Given the description of an element on the screen output the (x, y) to click on. 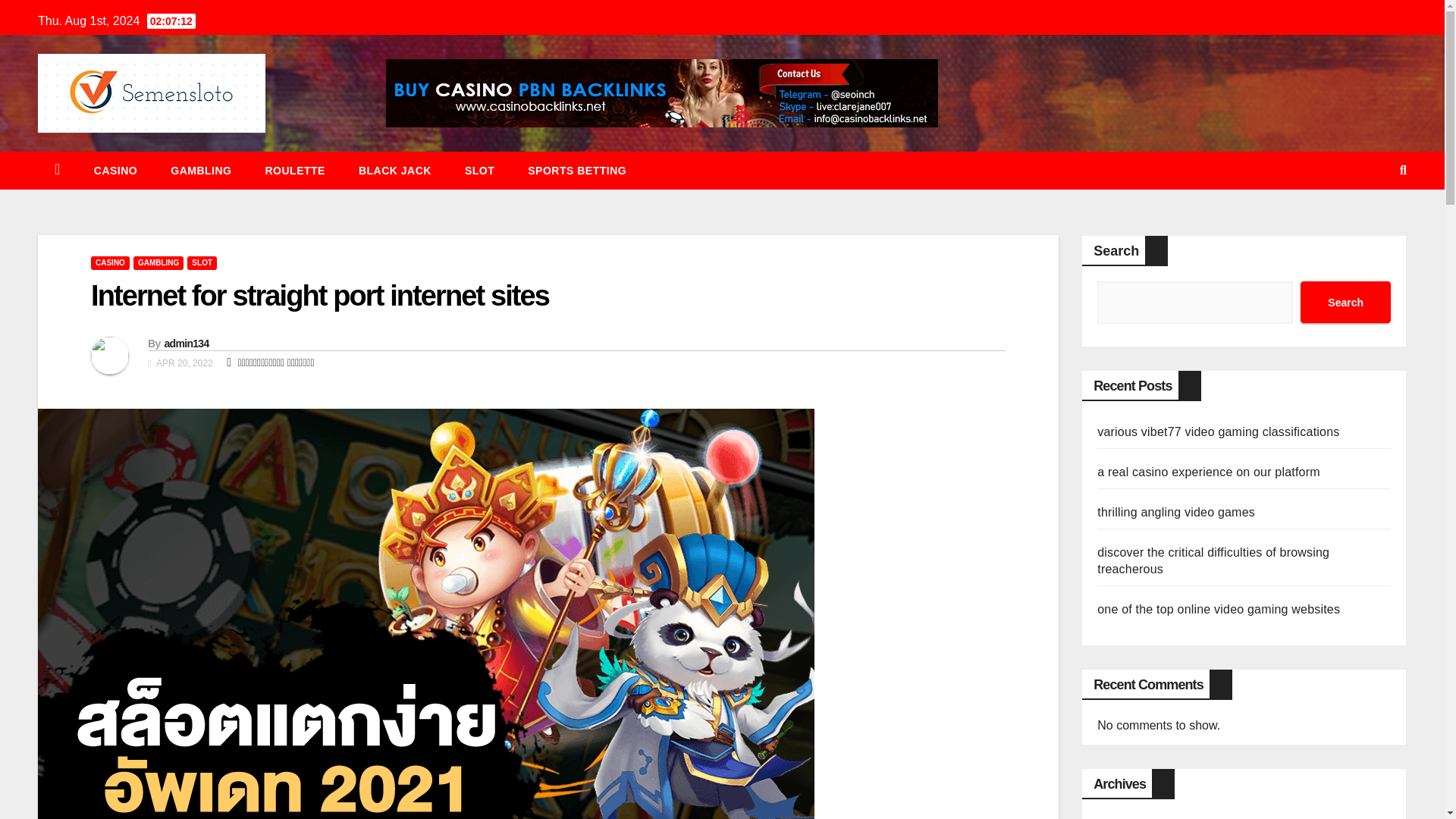
GAMBLING (200, 170)
BLACK JACK (395, 170)
GAMBLING (200, 170)
SLOT (479, 170)
GAMBLING (158, 263)
CASINO (115, 170)
ROULETTE (293, 170)
Internet for straight port internet sites (319, 296)
CASINO (109, 263)
Permalink to: Internet for straight port internet sites (319, 296)
ROULETTE (293, 170)
SPORTS BETTING (577, 170)
BLACK JACK (395, 170)
admin134 (185, 343)
SPORTS BETTING (577, 170)
